Given the description of an element on the screen output the (x, y) to click on. 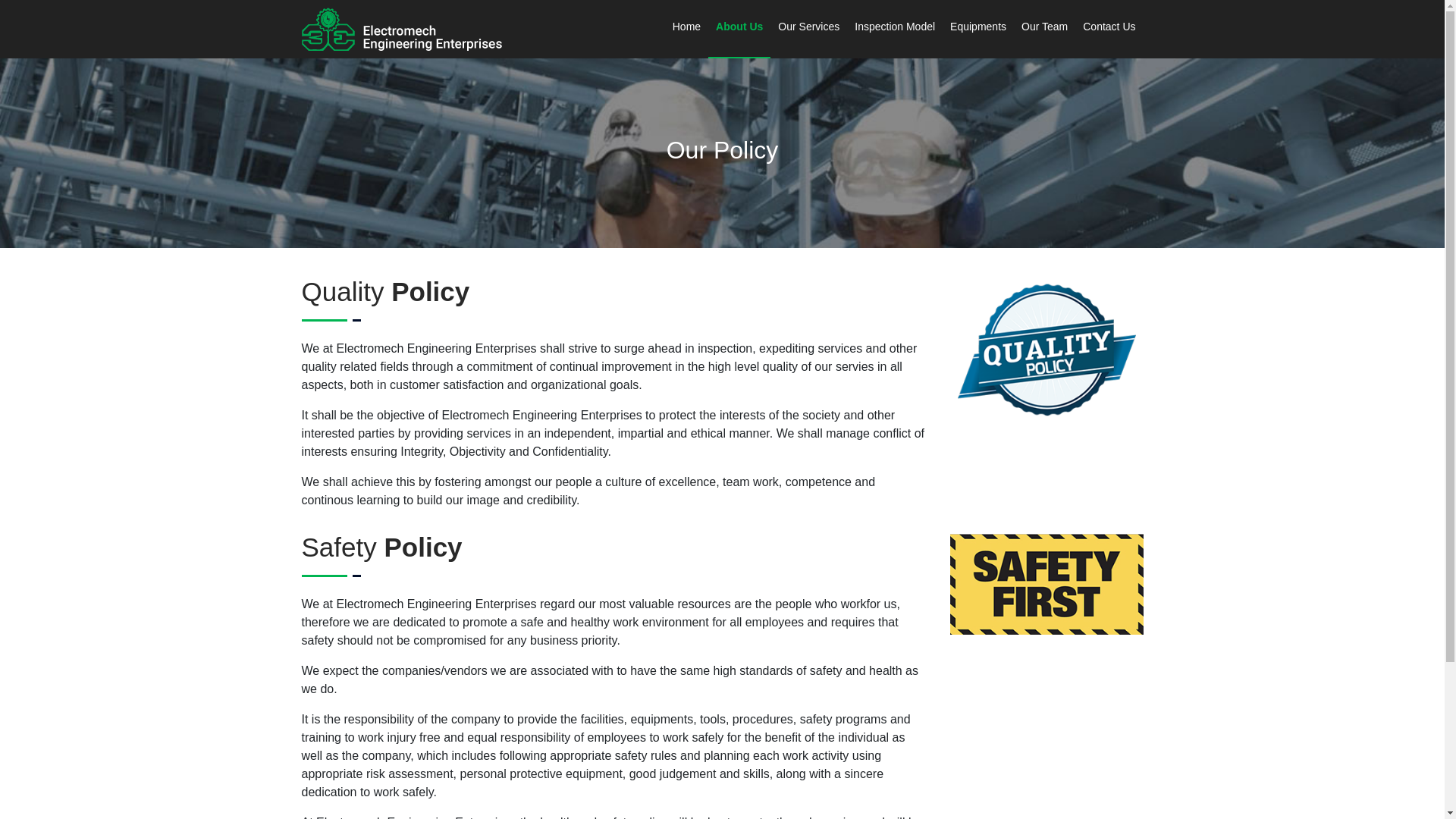
Inspection Model (894, 27)
Contact Us (1108, 27)
Equipments (977, 28)
Our Team (1044, 27)
Our Services (808, 28)
About Us (738, 29)
